Given the description of an element on the screen output the (x, y) to click on. 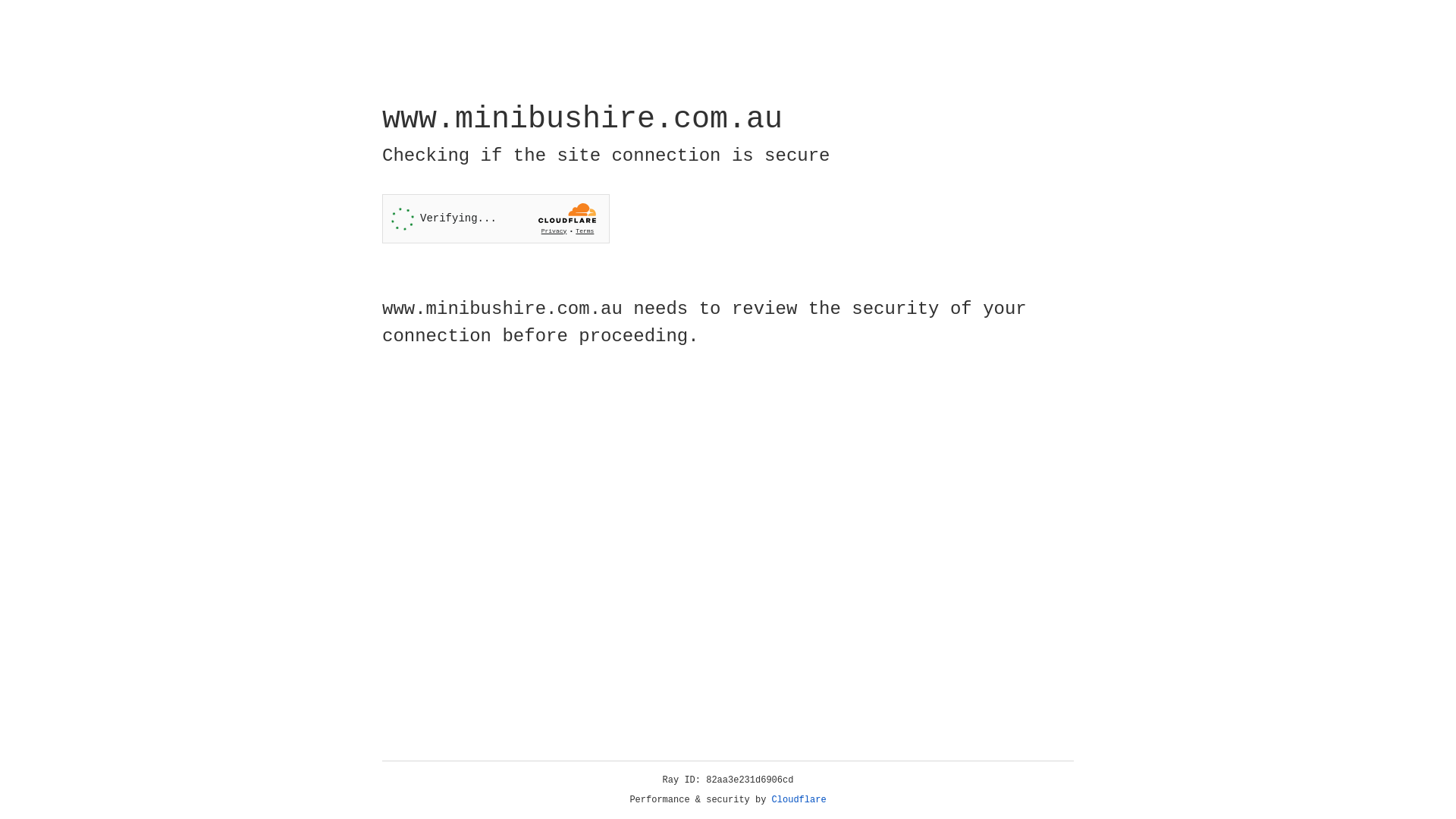
Widget containing a Cloudflare security challenge Element type: hover (495, 218)
Cloudflare Element type: text (798, 799)
